Given the description of an element on the screen output the (x, y) to click on. 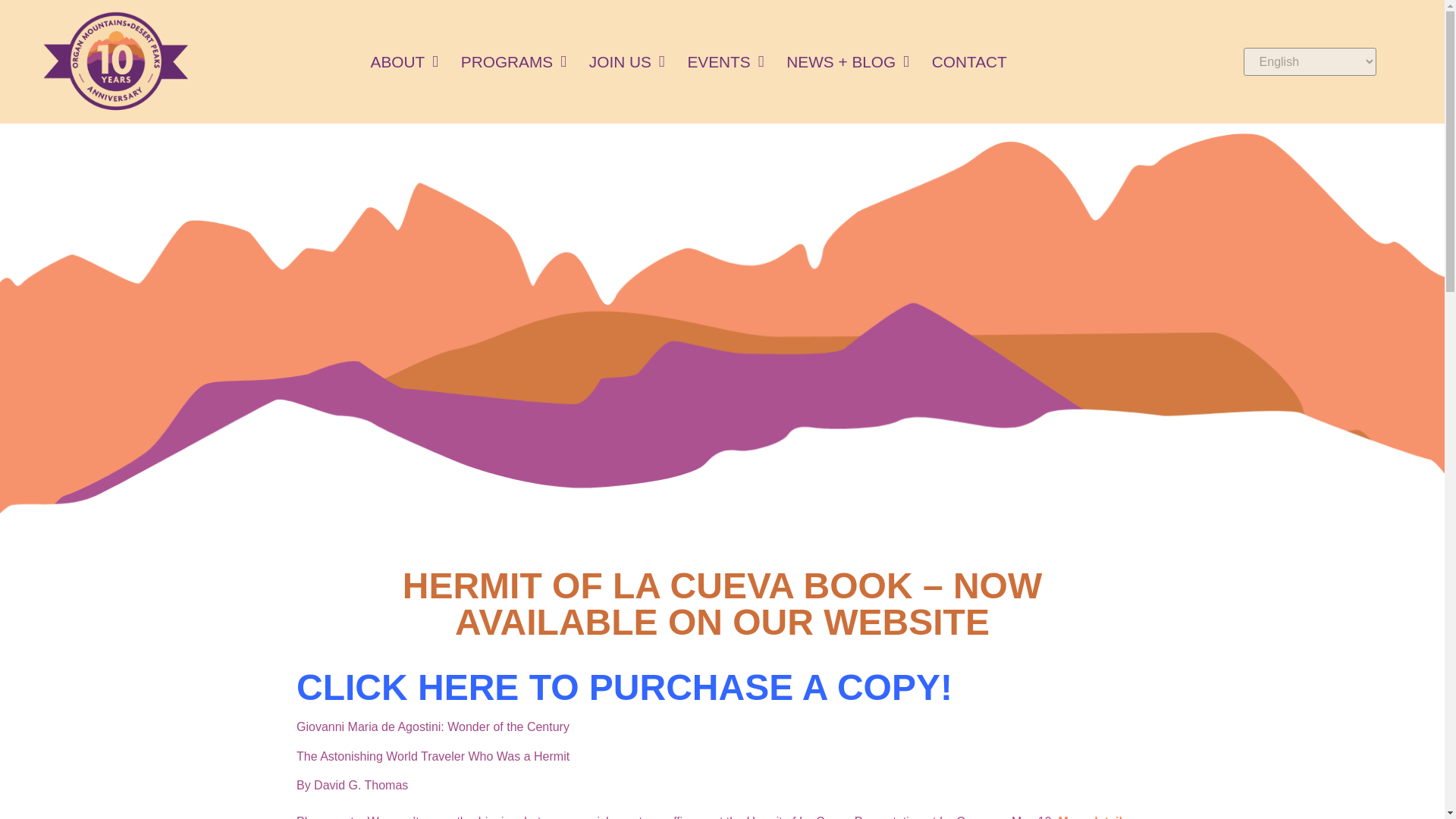
PROGRAMS (513, 61)
CONTACT (968, 61)
ABOUT (404, 61)
EVENTS (724, 61)
JOIN US (627, 61)
